Given the description of an element on the screen output the (x, y) to click on. 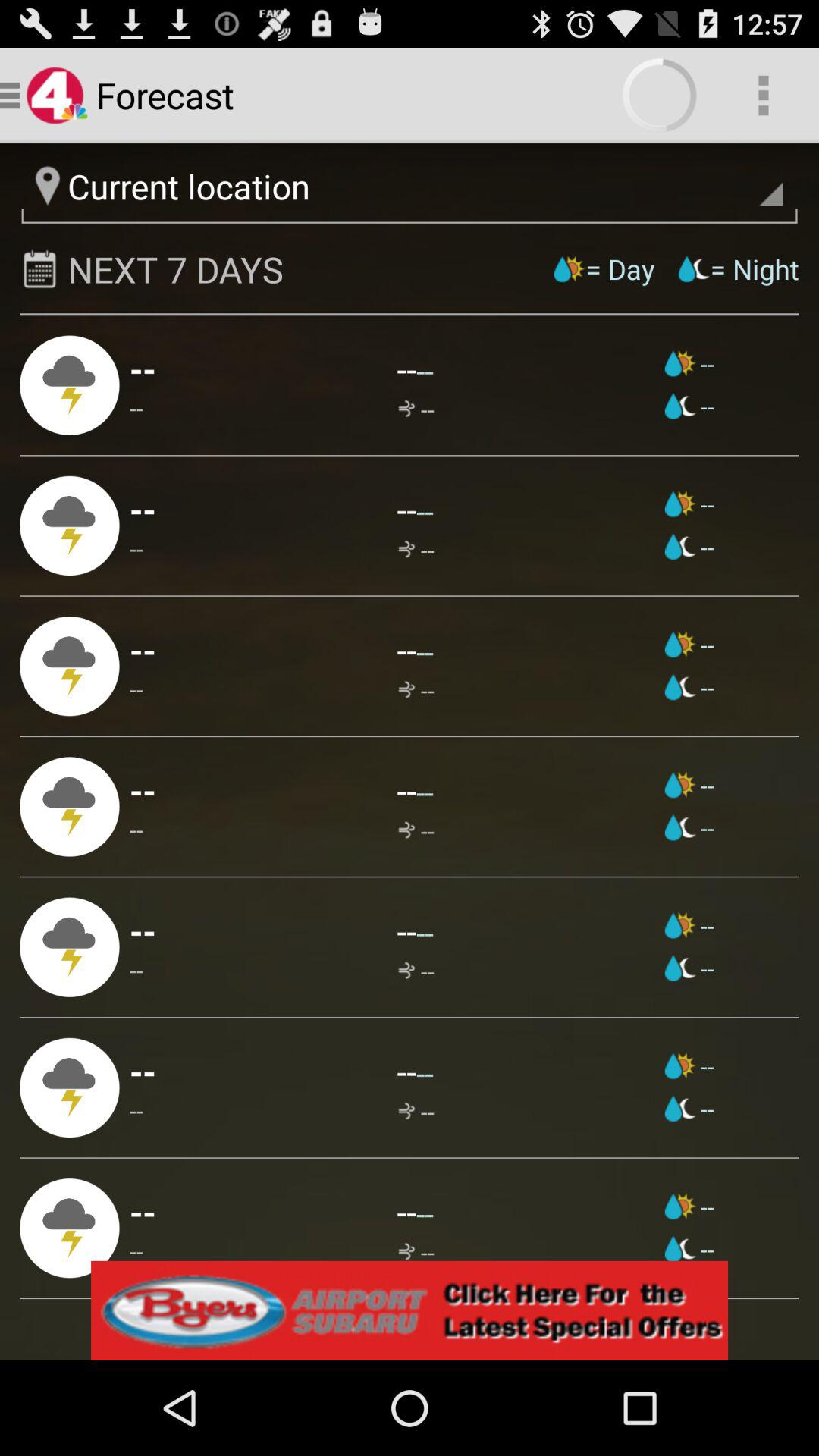
advertisement option (409, 1310)
